Given the description of an element on the screen output the (x, y) to click on. 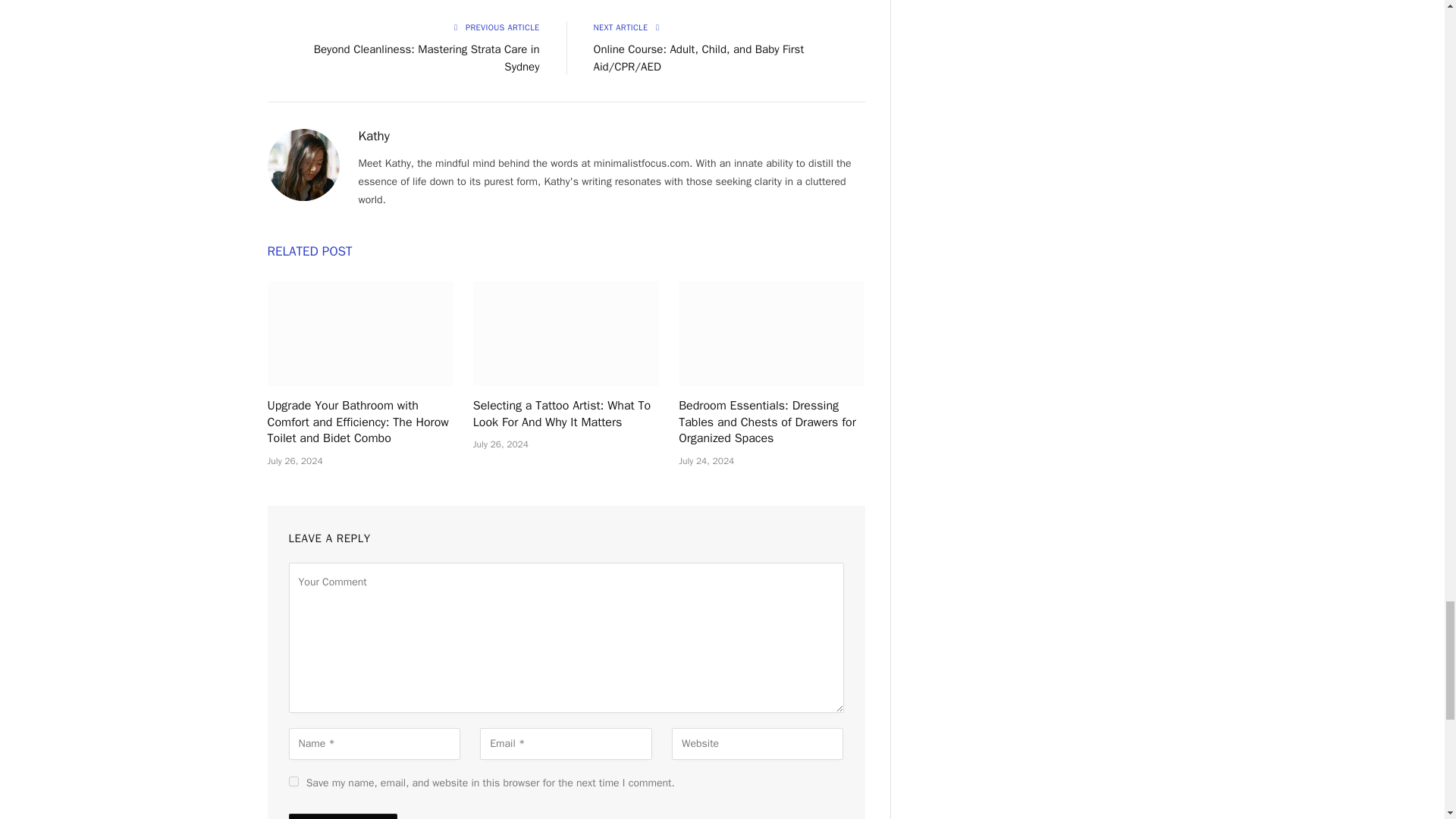
Post Comment (342, 816)
yes (293, 781)
